Given the description of an element on the screen output the (x, y) to click on. 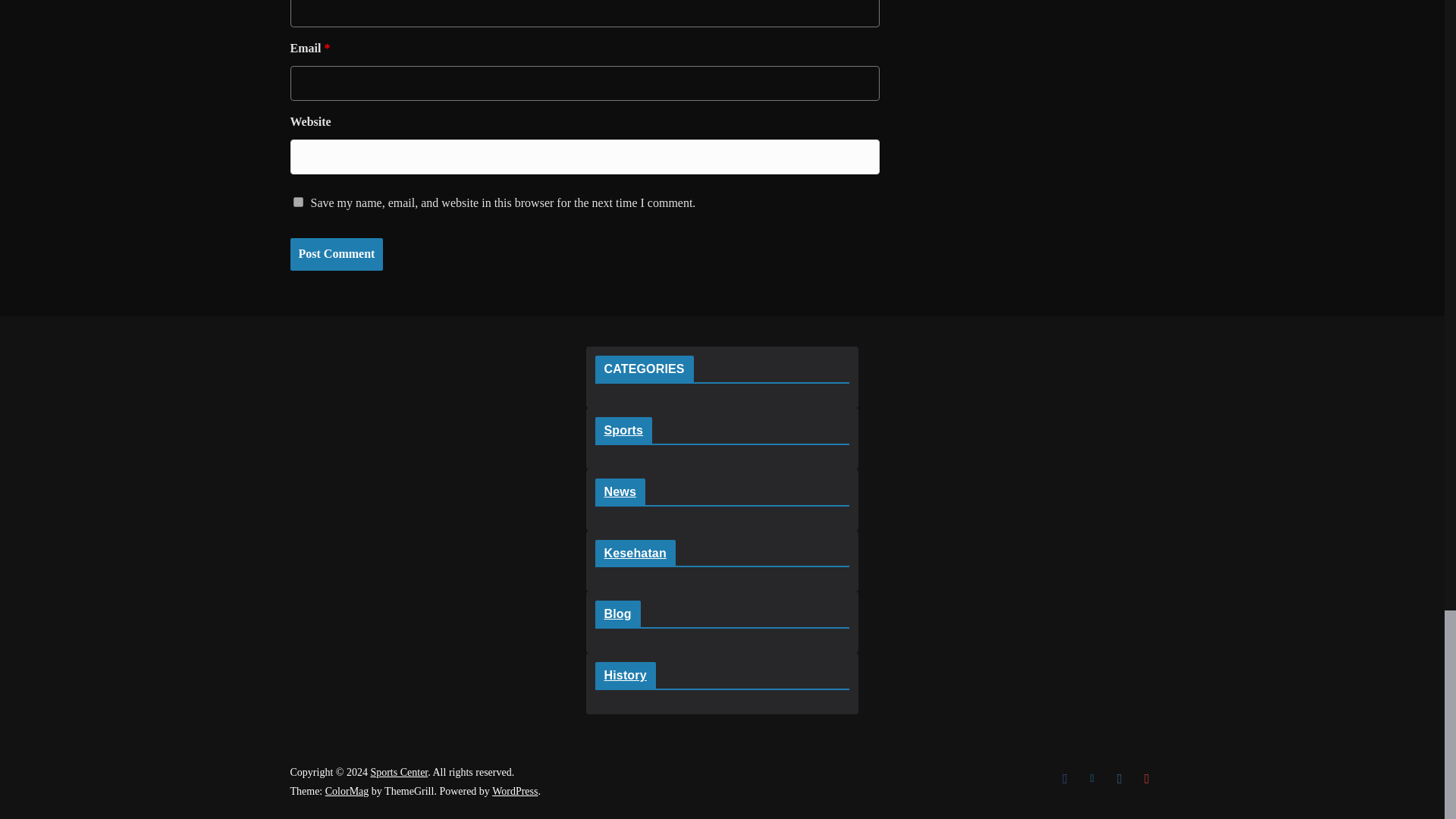
WordPress (514, 790)
Post Comment (335, 254)
WordPress (514, 790)
News (619, 491)
Sports (623, 430)
Post Comment (335, 254)
Sports Center (398, 772)
ColorMag (346, 790)
Sports Center (398, 772)
Blog (617, 613)
ColorMag (346, 790)
Kesehatan (634, 553)
History (625, 675)
yes (297, 202)
